Given the description of an element on the screen output the (x, y) to click on. 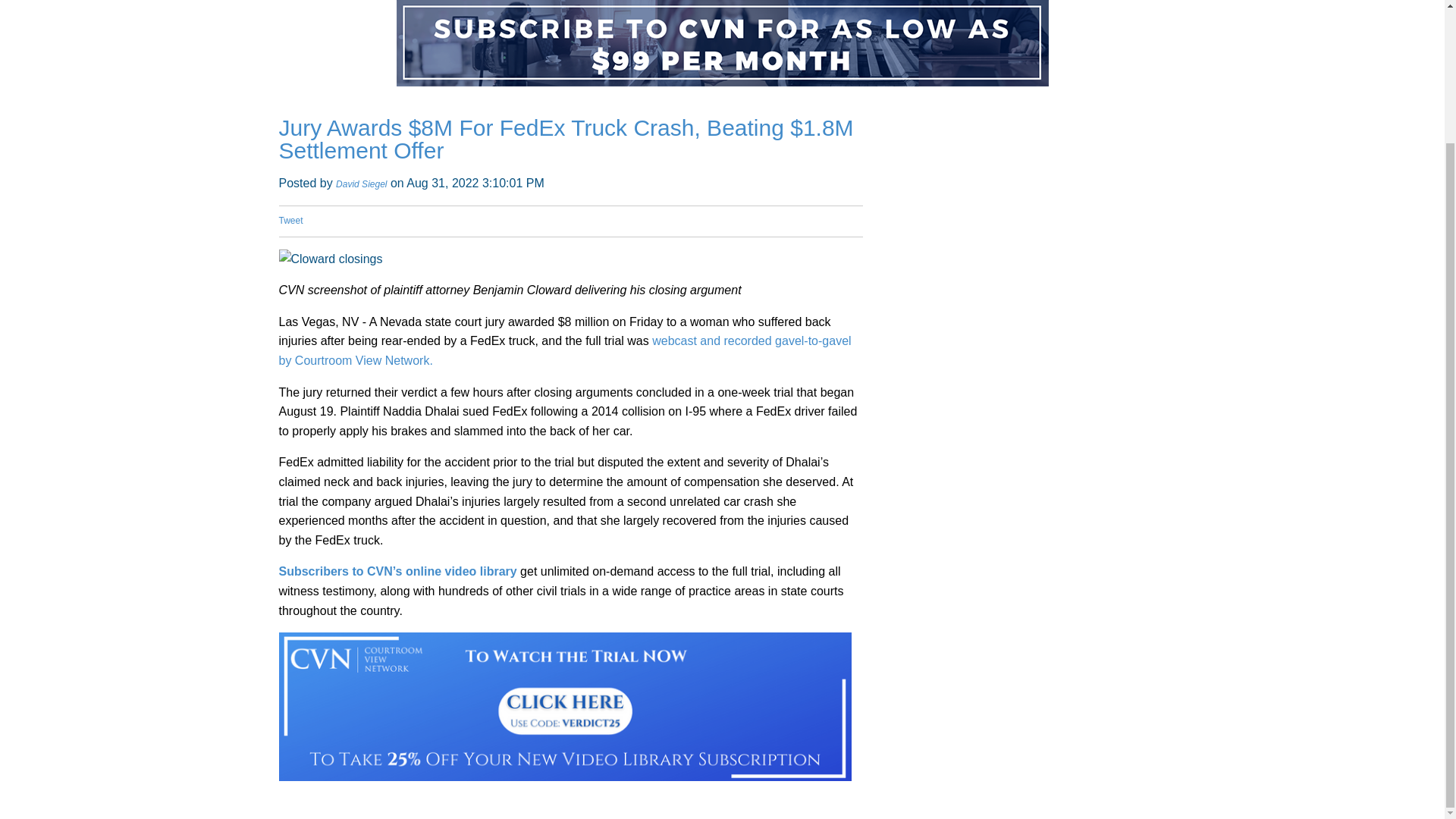
David Siegel (361, 184)
Subscribe-to-CVN-Blog-Graphic-small.png (722, 43)
Tweet (290, 220)
